Given the description of an element on the screen output the (x, y) to click on. 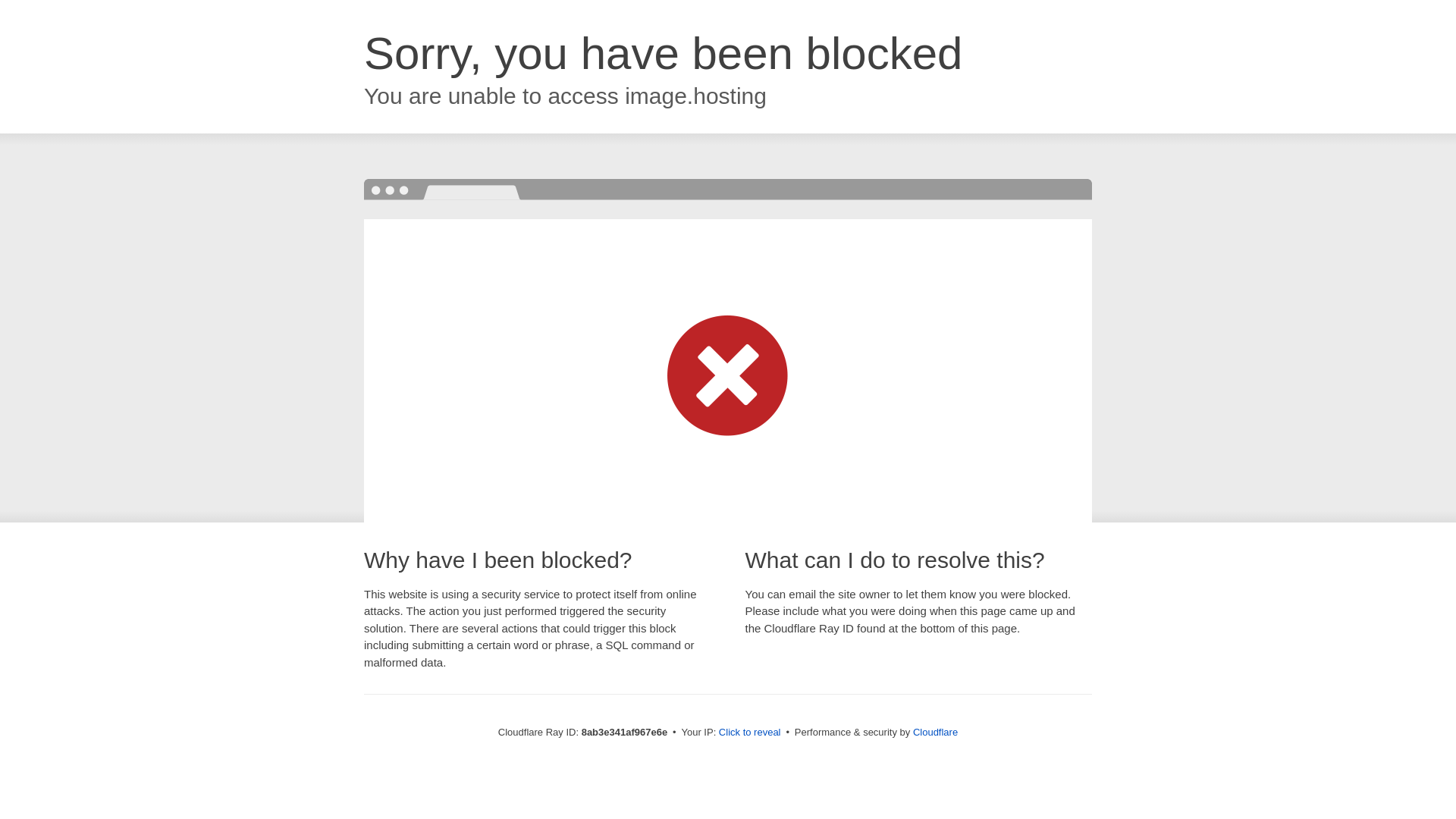
Click to reveal (749, 732)
Cloudflare (935, 731)
